Given the description of an element on the screen output the (x, y) to click on. 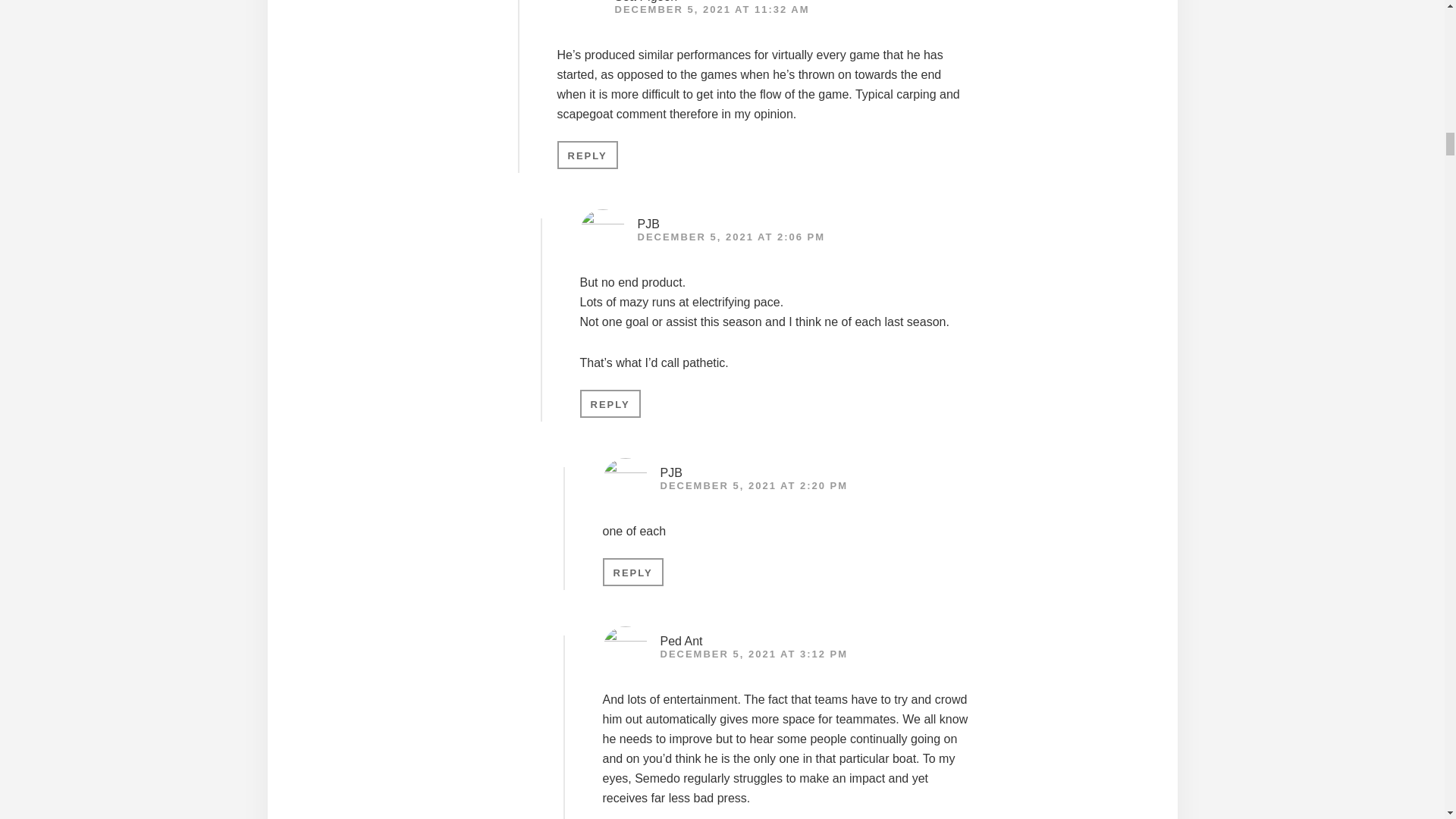
DECEMBER 5, 2021 AT 11:32 AM (711, 9)
REPLY (632, 571)
DECEMBER 5, 2021 AT 3:12 PM (753, 654)
DECEMBER 5, 2021 AT 2:20 PM (753, 485)
REPLY (609, 403)
DECEMBER 5, 2021 AT 2:06 PM (731, 236)
REPLY (586, 154)
